Given the description of an element on the screen output the (x, y) to click on. 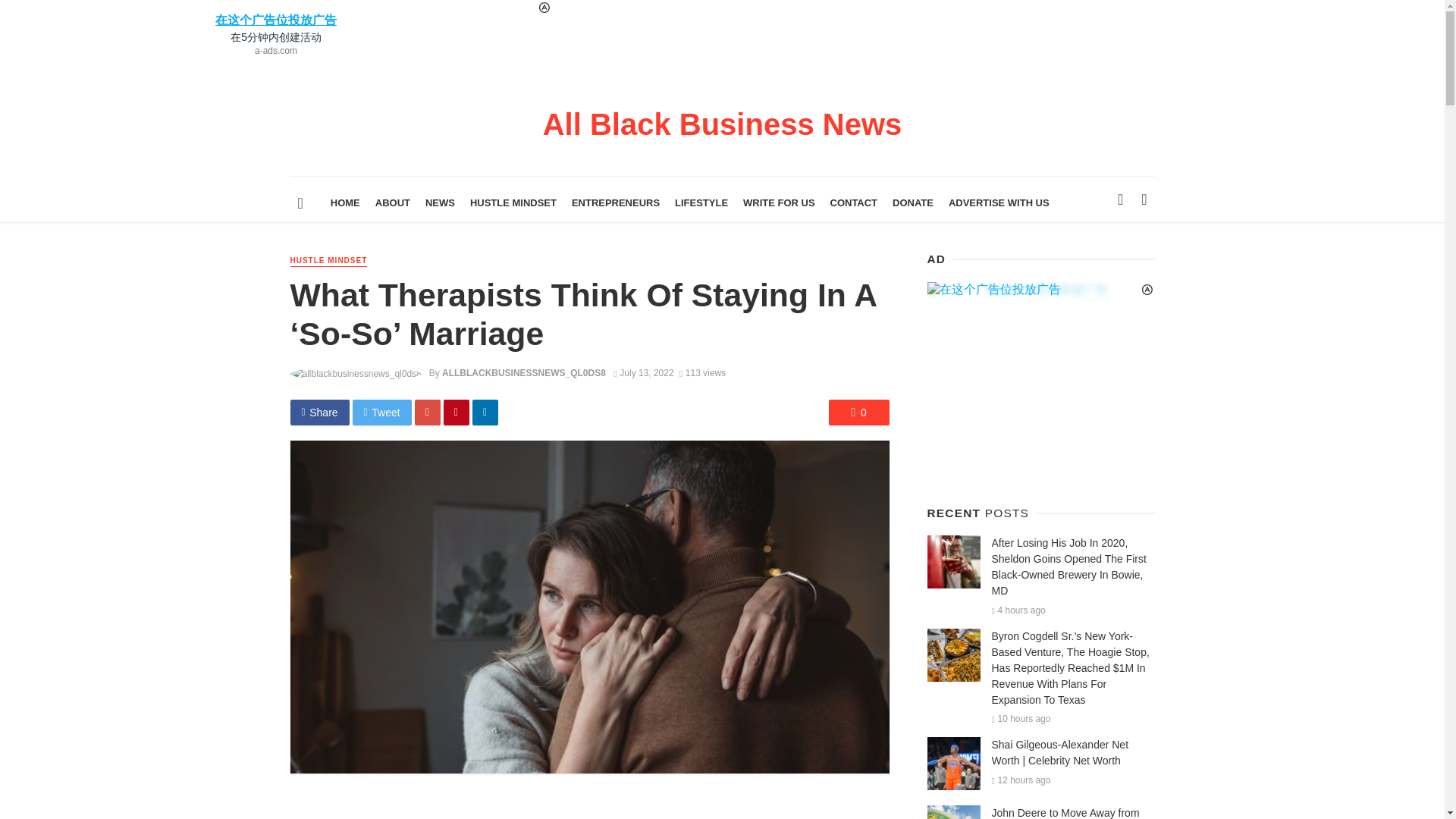
HOME (345, 203)
ABOUT (392, 203)
ENTREPRENEURS (615, 203)
CONTACT (853, 203)
Share (319, 412)
Tweet (382, 412)
All Black Business News (722, 131)
NEWS (440, 203)
DONATE (912, 203)
July 13, 2022 at 12:46 am (642, 372)
ADVERTISE WITH US (998, 203)
LIFESTYLE (700, 203)
July 18, 2024 at 9:18 am (1018, 610)
HUSTLE MINDSET (513, 203)
HUSTLE MINDSET (327, 260)
